Given the description of an element on the screen output the (x, y) to click on. 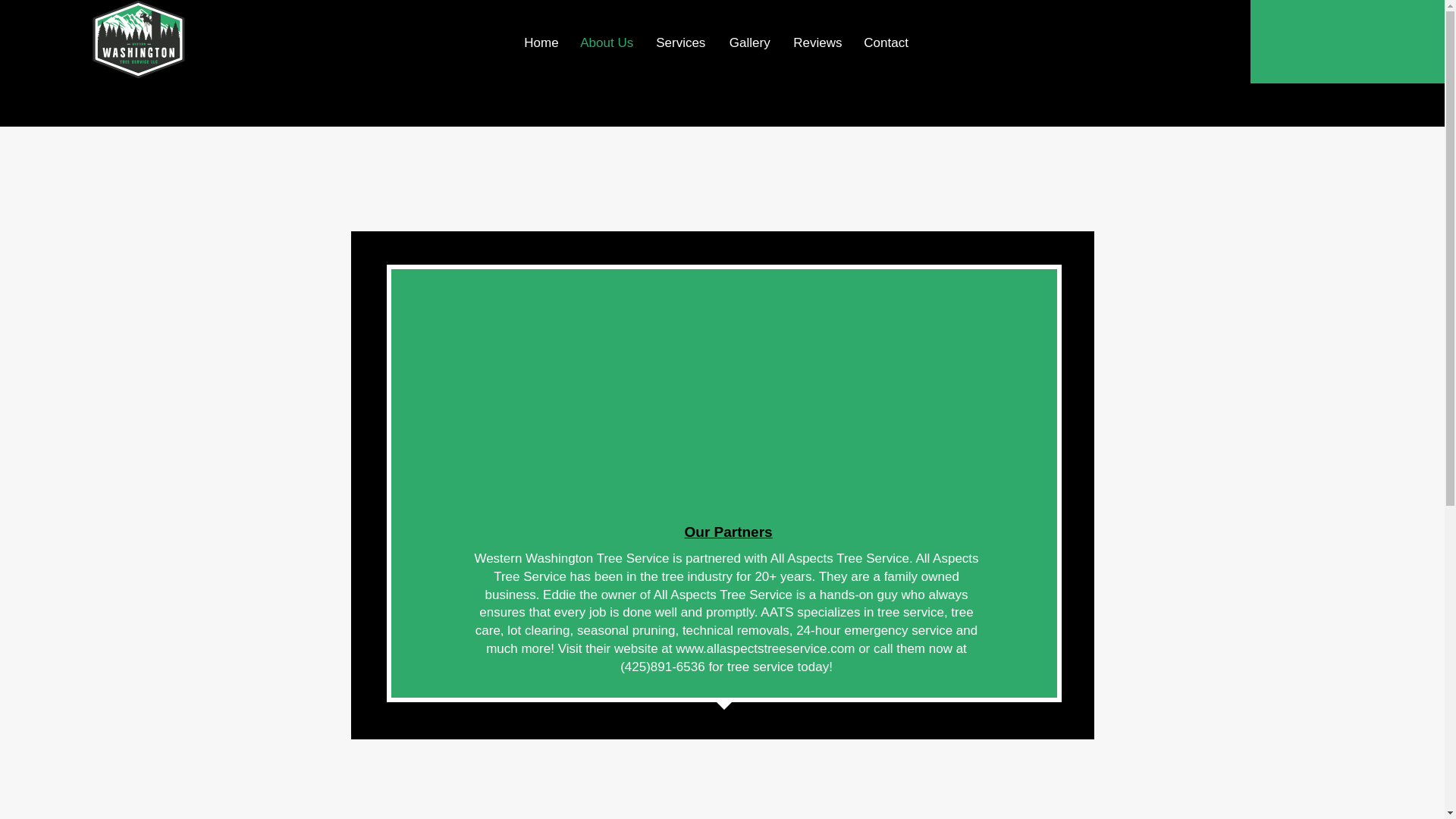
www.allaspectstreeservice.com (764, 648)
Reviews (816, 43)
Contact (884, 43)
Home (540, 43)
Services (680, 43)
About Us (606, 43)
Gallery (749, 43)
